Given the description of an element on the screen output the (x, y) to click on. 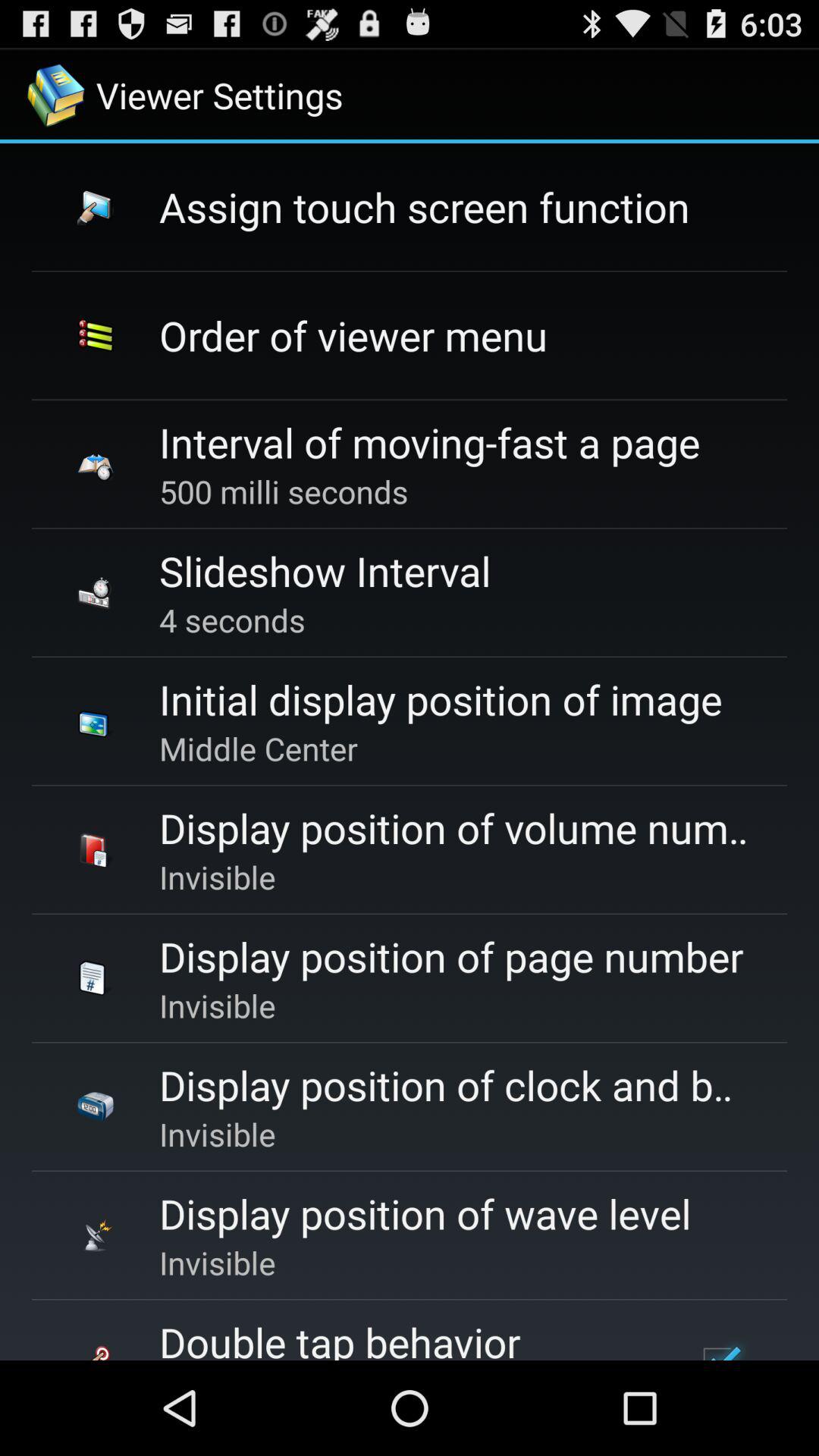
launch the icon above initial display position icon (232, 619)
